Given the description of an element on the screen output the (x, y) to click on. 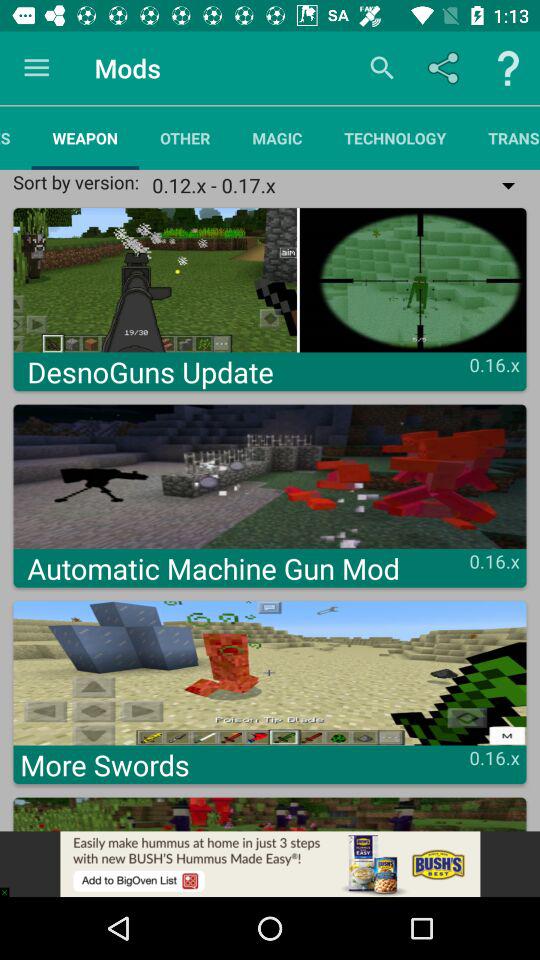
tap weapon item (85, 137)
